Given the description of an element on the screen output the (x, y) to click on. 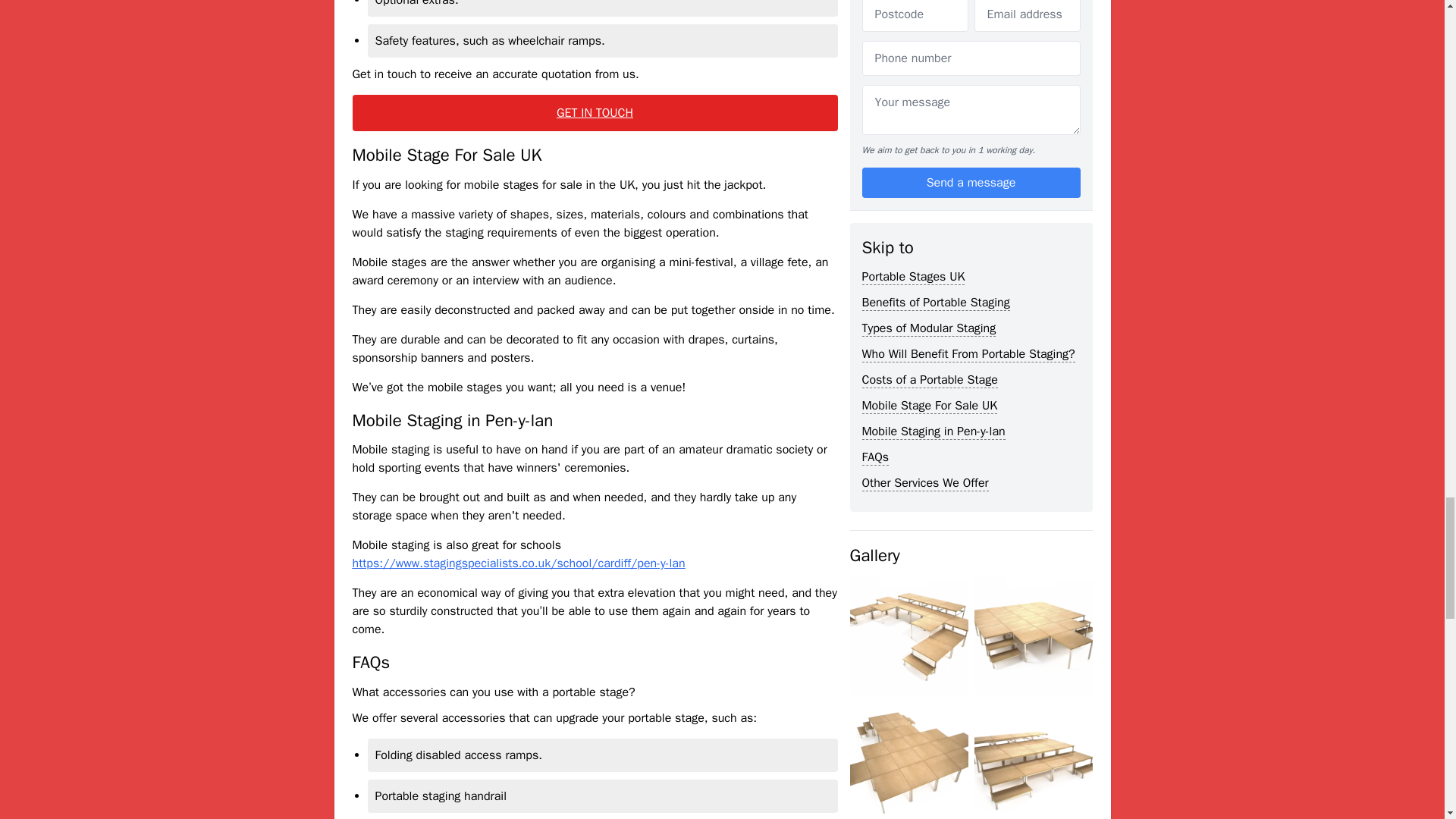
GET IN TOUCH (594, 113)
